Given the description of an element on the screen output the (x, y) to click on. 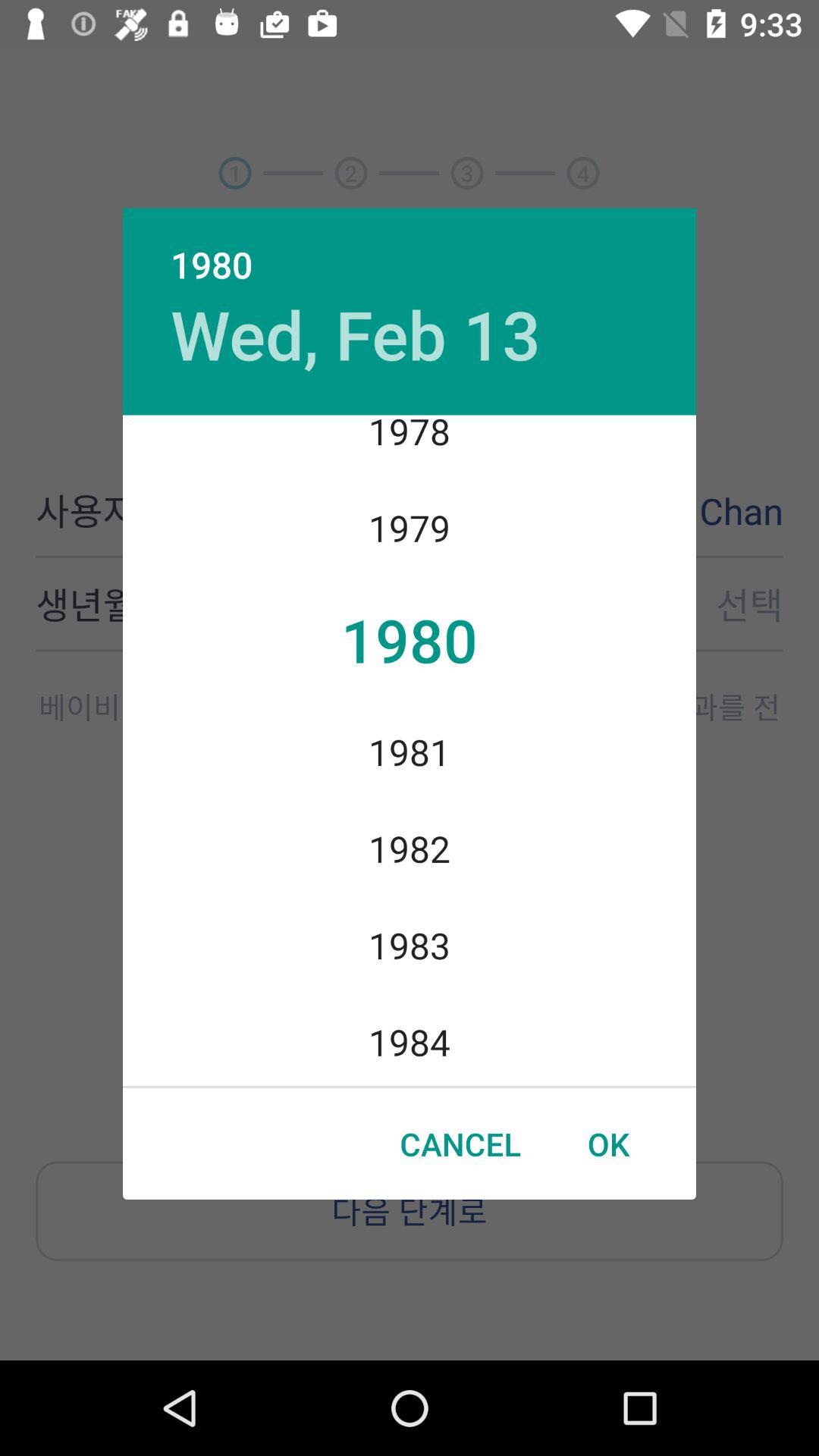
choose icon above 1978 item (355, 333)
